Given the description of an element on the screen output the (x, y) to click on. 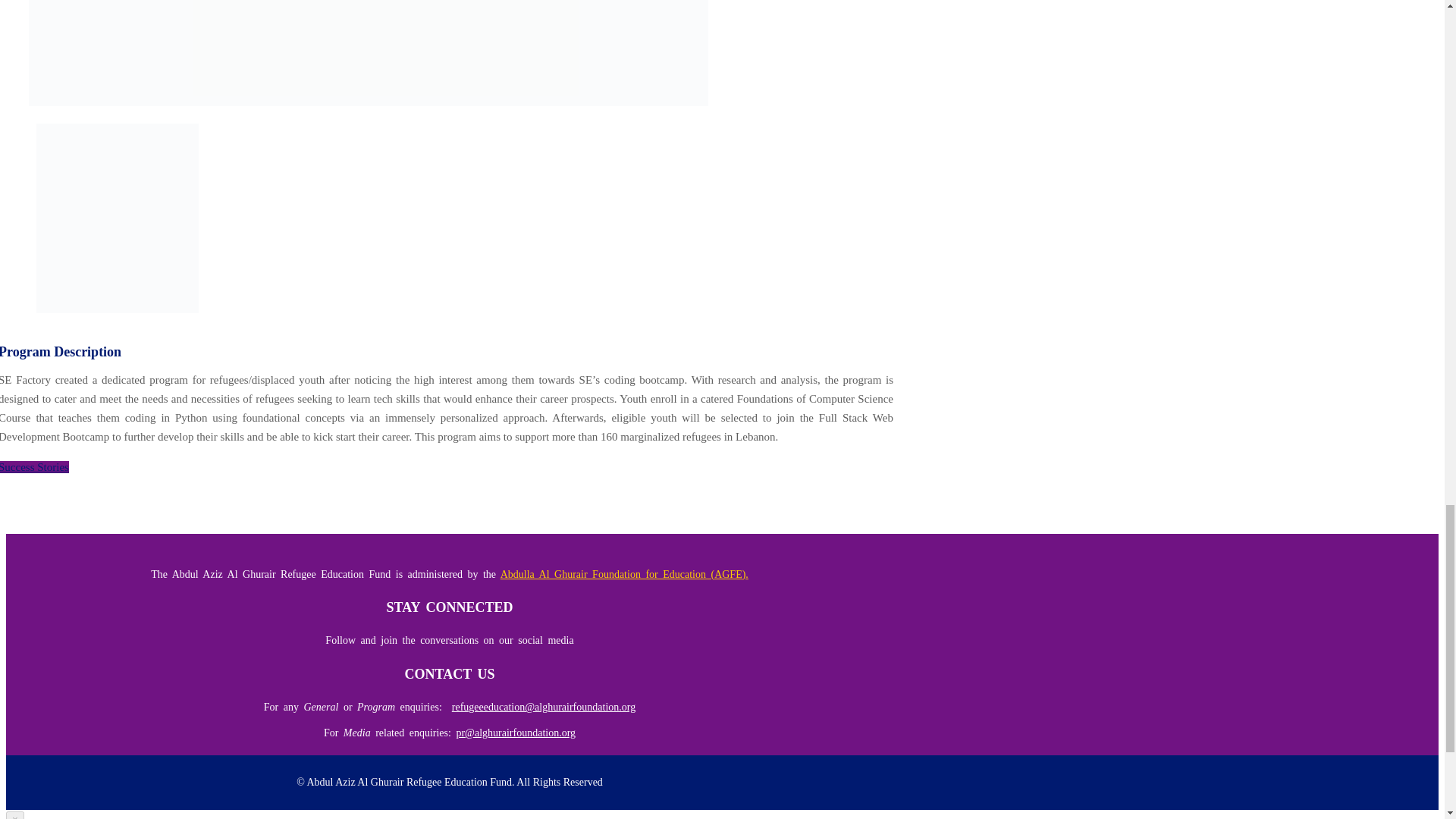
Success Stories (34, 467)
